Given the description of an element on the screen output the (x, y) to click on. 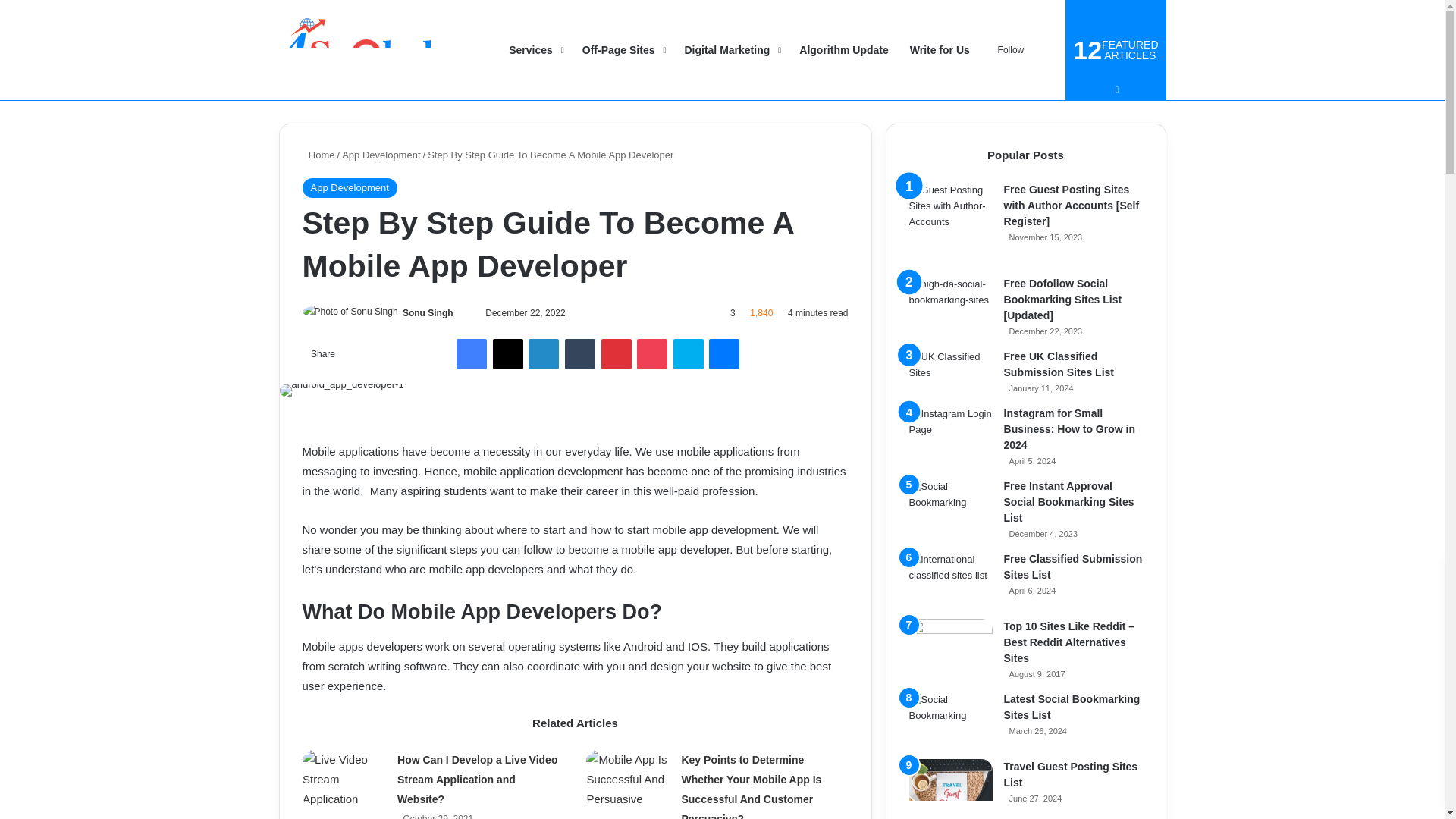
Digital Marketing (730, 49)
4 SEO Help (368, 50)
Off-Page Sites (623, 49)
Sonu Singh (427, 312)
